Given the description of an element on the screen output the (x, y) to click on. 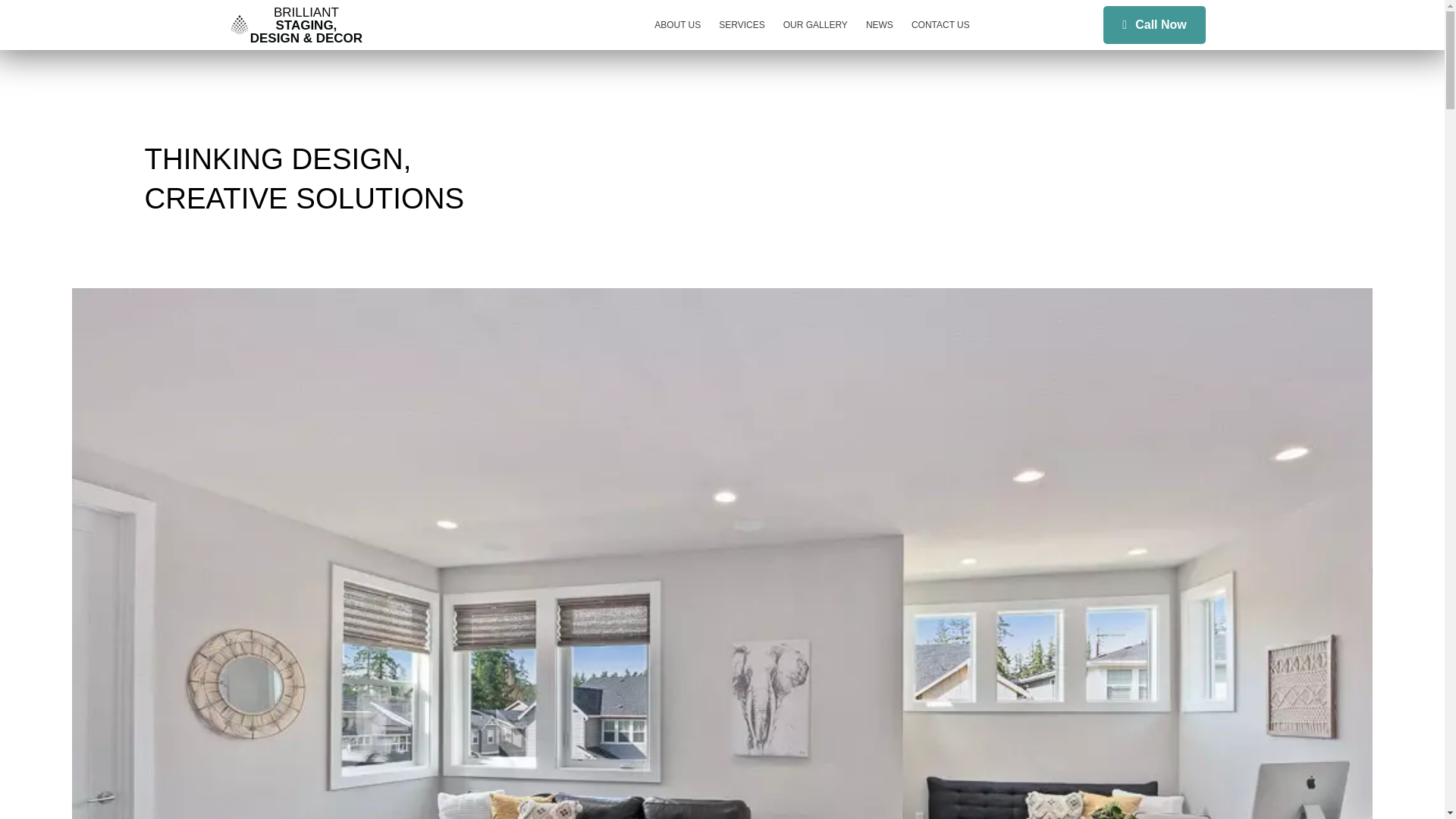
OUR GALLERY (815, 24)
ABOUT US (677, 24)
SERVICES (741, 24)
NEWS (879, 24)
CONTACT US (940, 24)
Call Now (1154, 24)
